Given the description of an element on the screen output the (x, y) to click on. 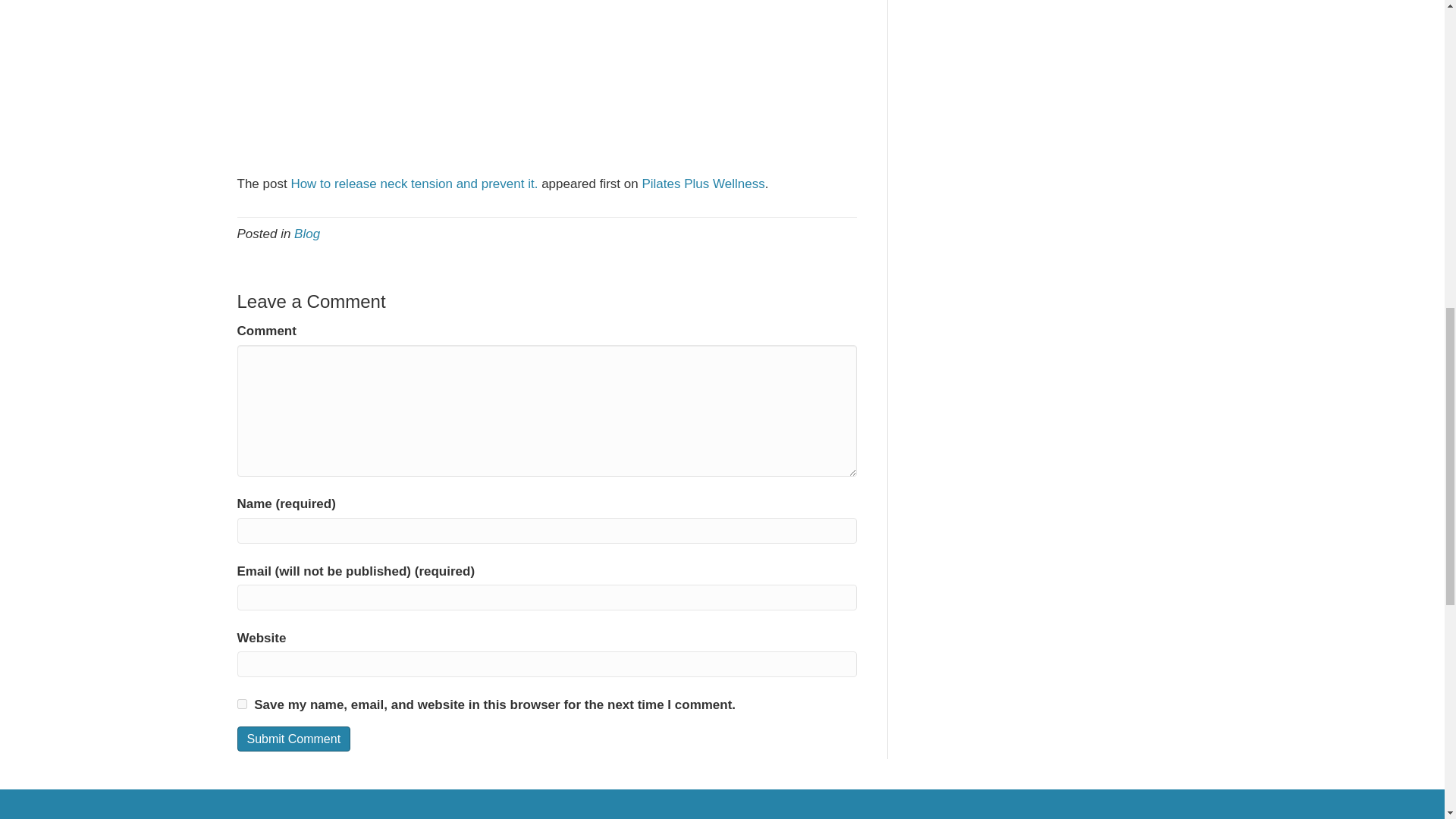
Submit Comment (292, 738)
yes (240, 704)
